Given the description of an element on the screen output the (x, y) to click on. 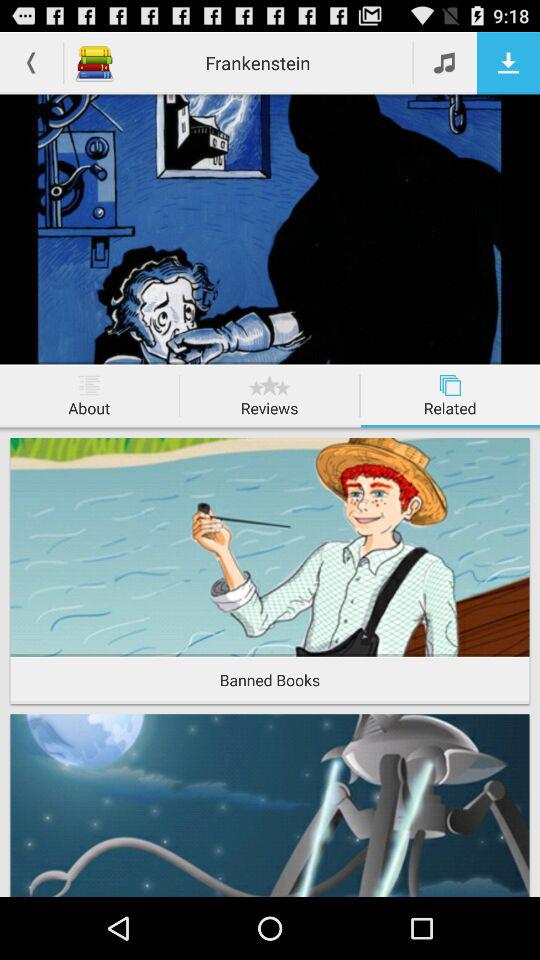
listen to music (445, 62)
